Given the description of an element on the screen output the (x, y) to click on. 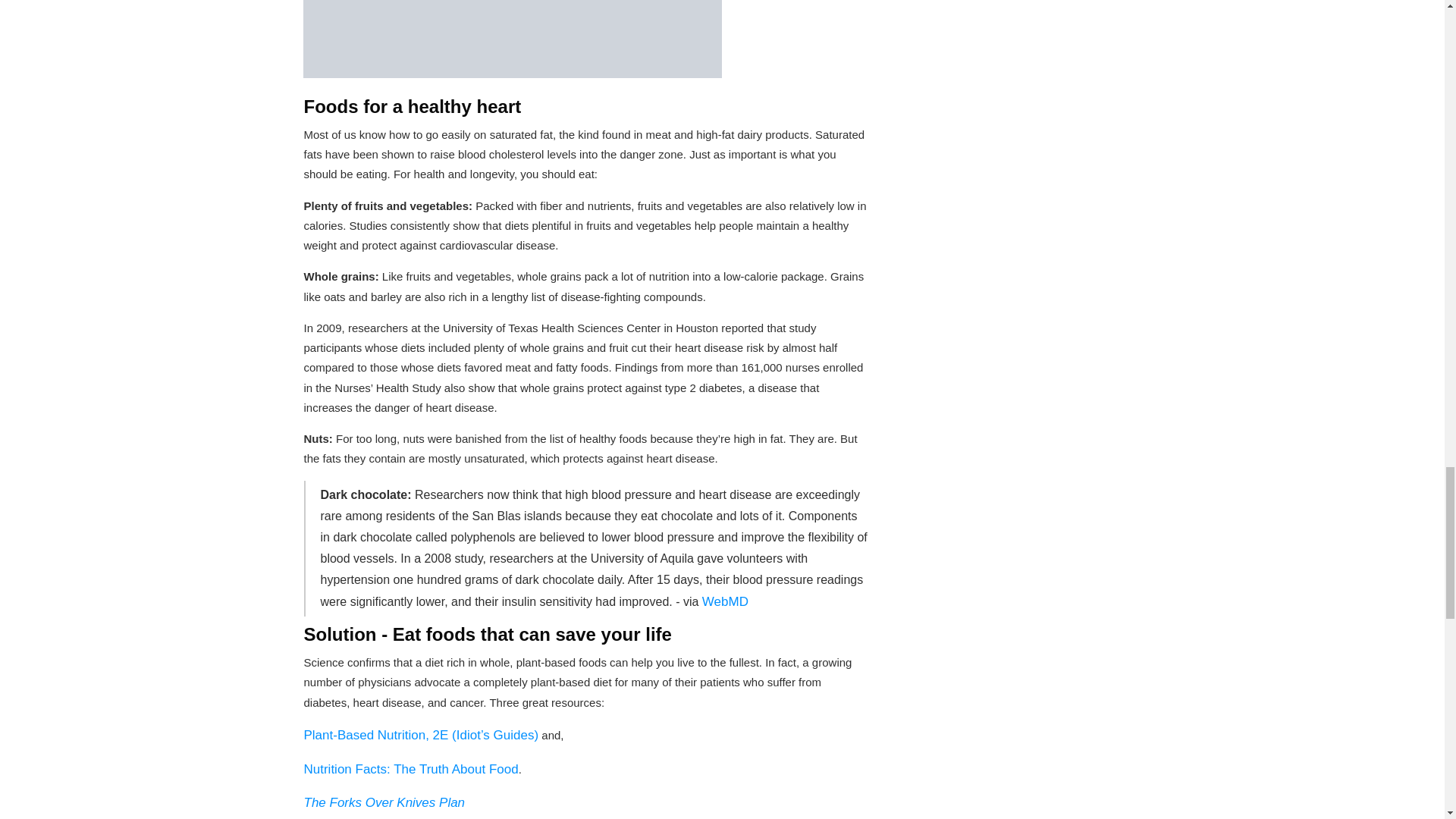
Nutrition Facts: The Truth About Food (410, 769)
Foods that can save your life (513, 39)
WebMD (724, 601)
The Forks Over Knives Plan (383, 802)
